Given the description of an element on the screen output the (x, y) to click on. 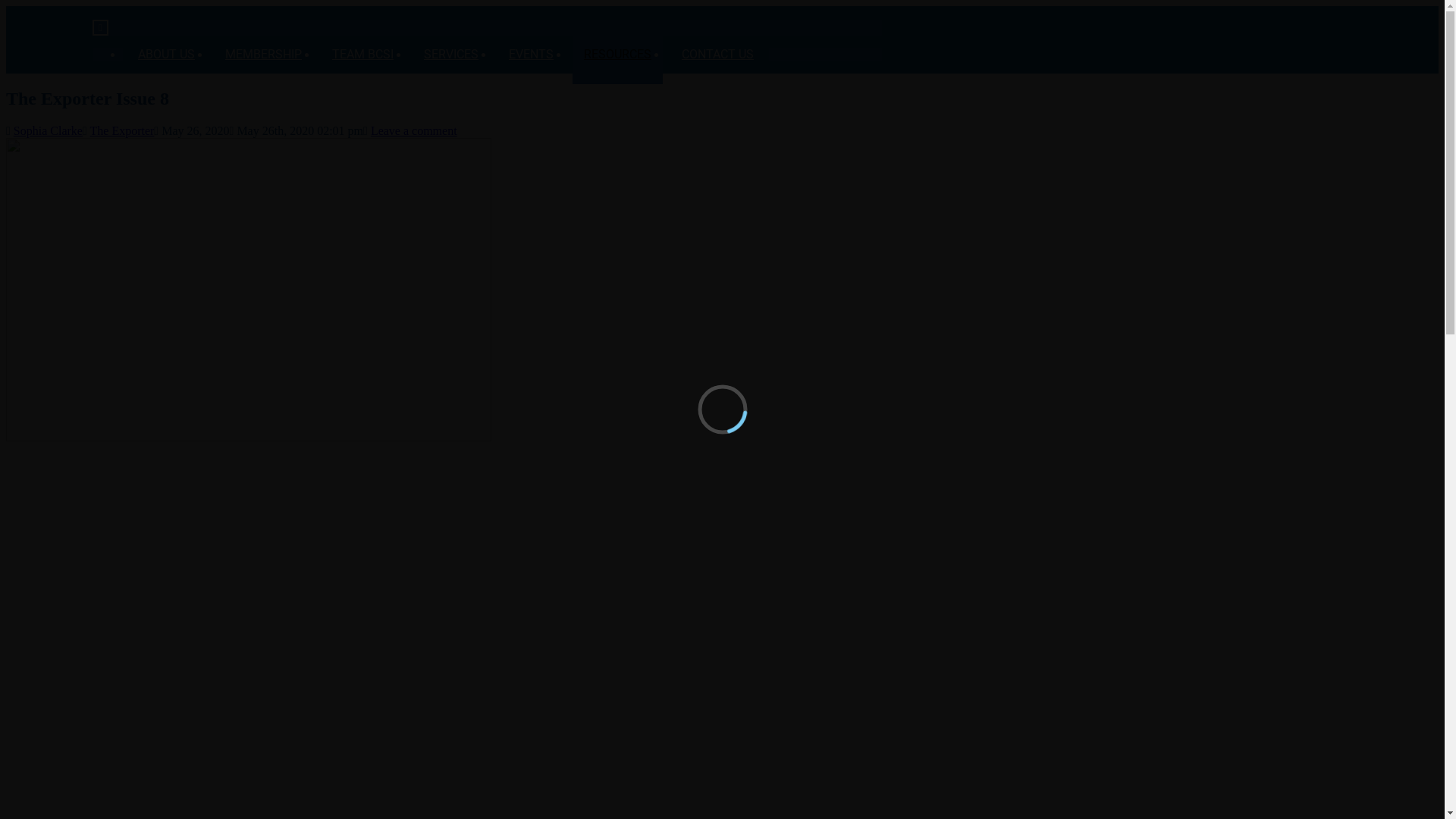
ABOUT US Element type: text (166, 52)
SERVICES Element type: text (450, 52)
EVENTS Element type: text (530, 52)
The Exporter Element type: text (121, 130)
Sophia Clarke Element type: text (47, 130)
CONTACT US Element type: text (717, 52)
MEMBERSHIP Element type: text (263, 52)
Home Element type: hover (114, 12)
TEAM BCSI Element type: text (362, 52)
Leave a comment Element type: text (413, 130)
RESOURCES Element type: text (617, 52)
